Given the description of an element on the screen output the (x, y) to click on. 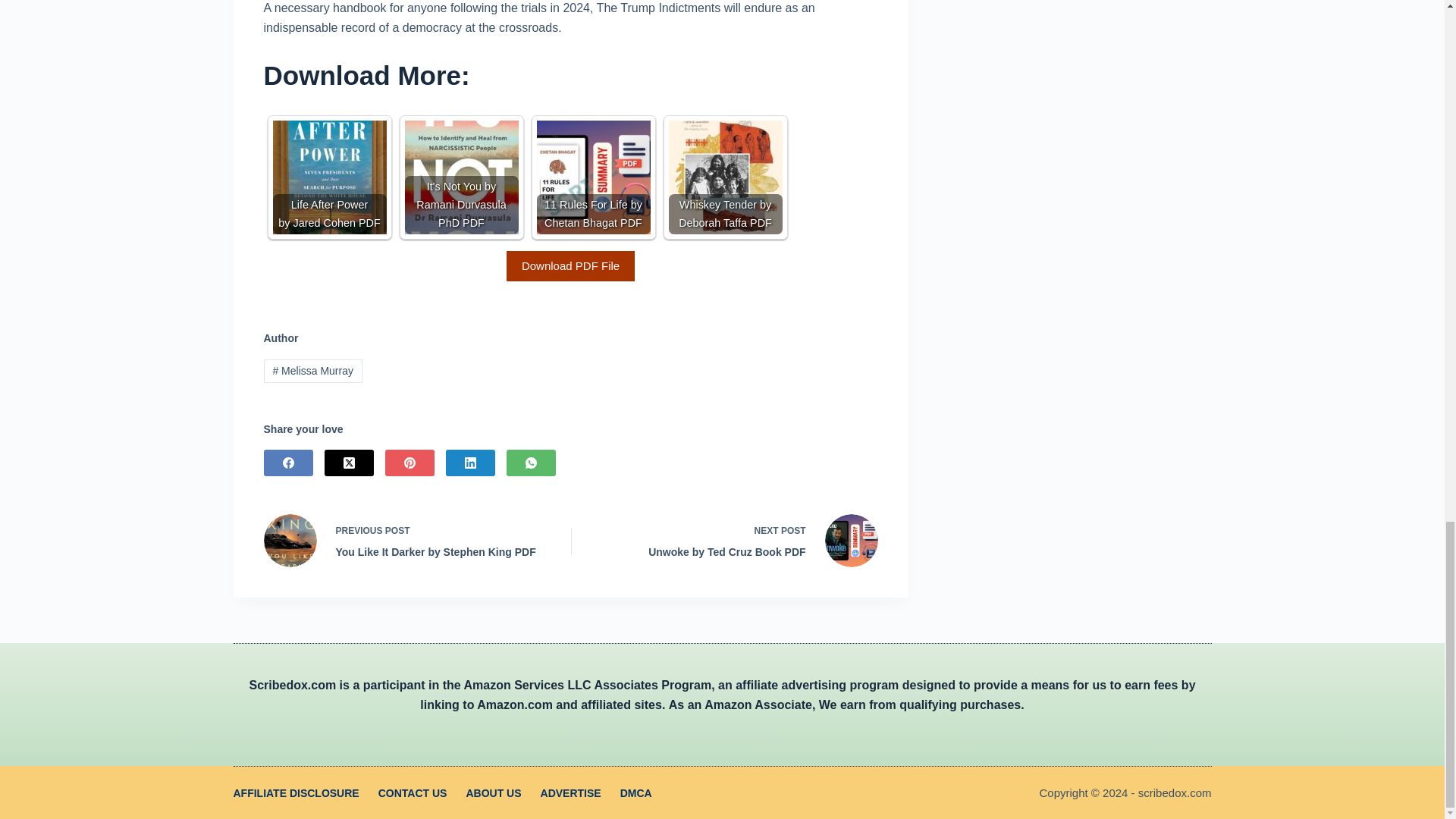
It's Not You by Ramani Durvasula PhD PDF (461, 177)
11 Rules For Life by Chetan Bhagat PDF (593, 177)
It's Not You by Ramani Durvasula PhD PDF (461, 177)
Whiskey Tender by Deborah Taffa PDF (725, 177)
Life After Power by Jared Cohen PDF (330, 177)
Download PDF File (570, 265)
11 Rules For Life by Chetan Bhagat PDF (593, 177)
